Given the description of an element on the screen output the (x, y) to click on. 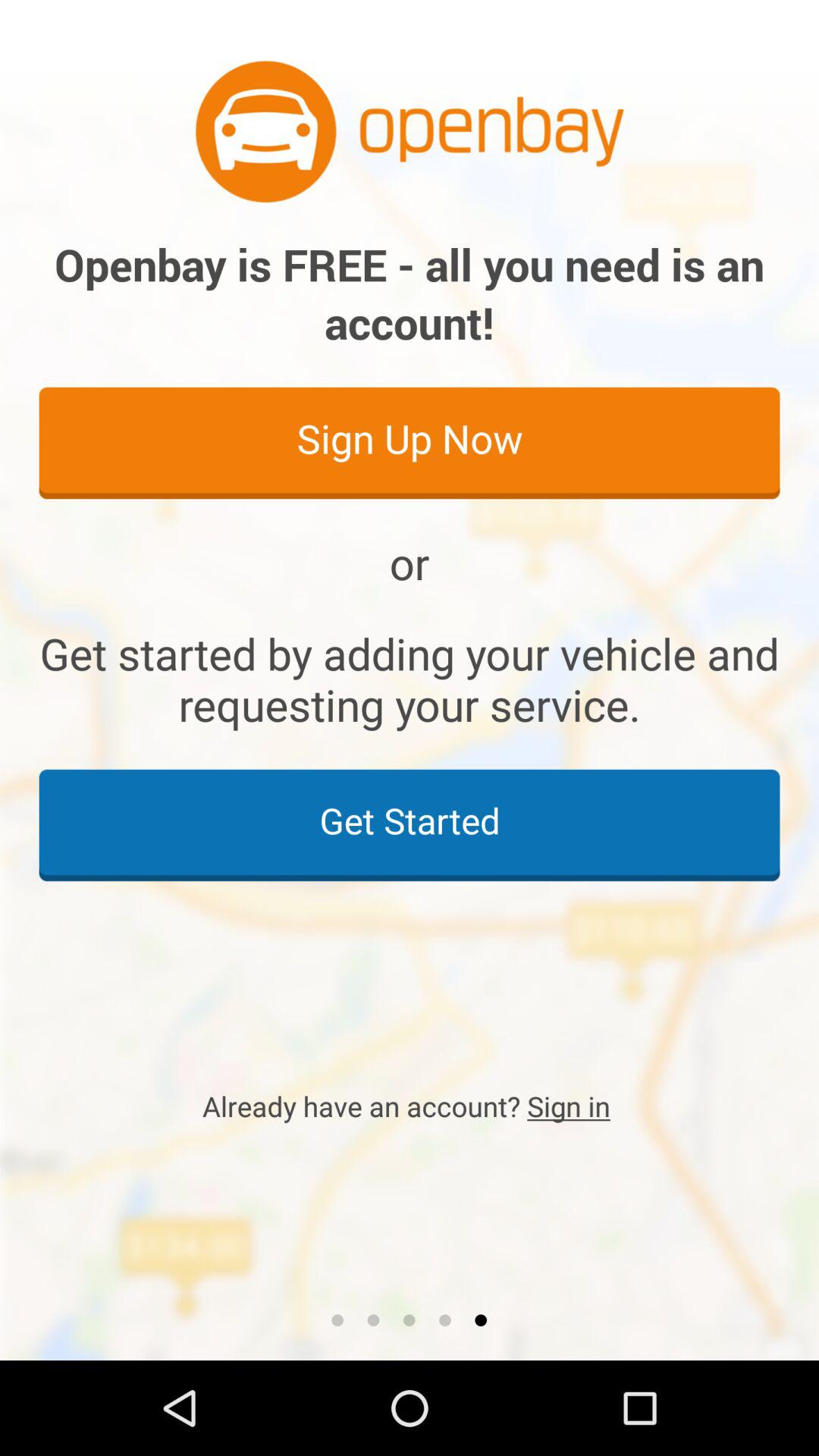
scroll to the already have an (409, 1105)
